Given the description of an element on the screen output the (x, y) to click on. 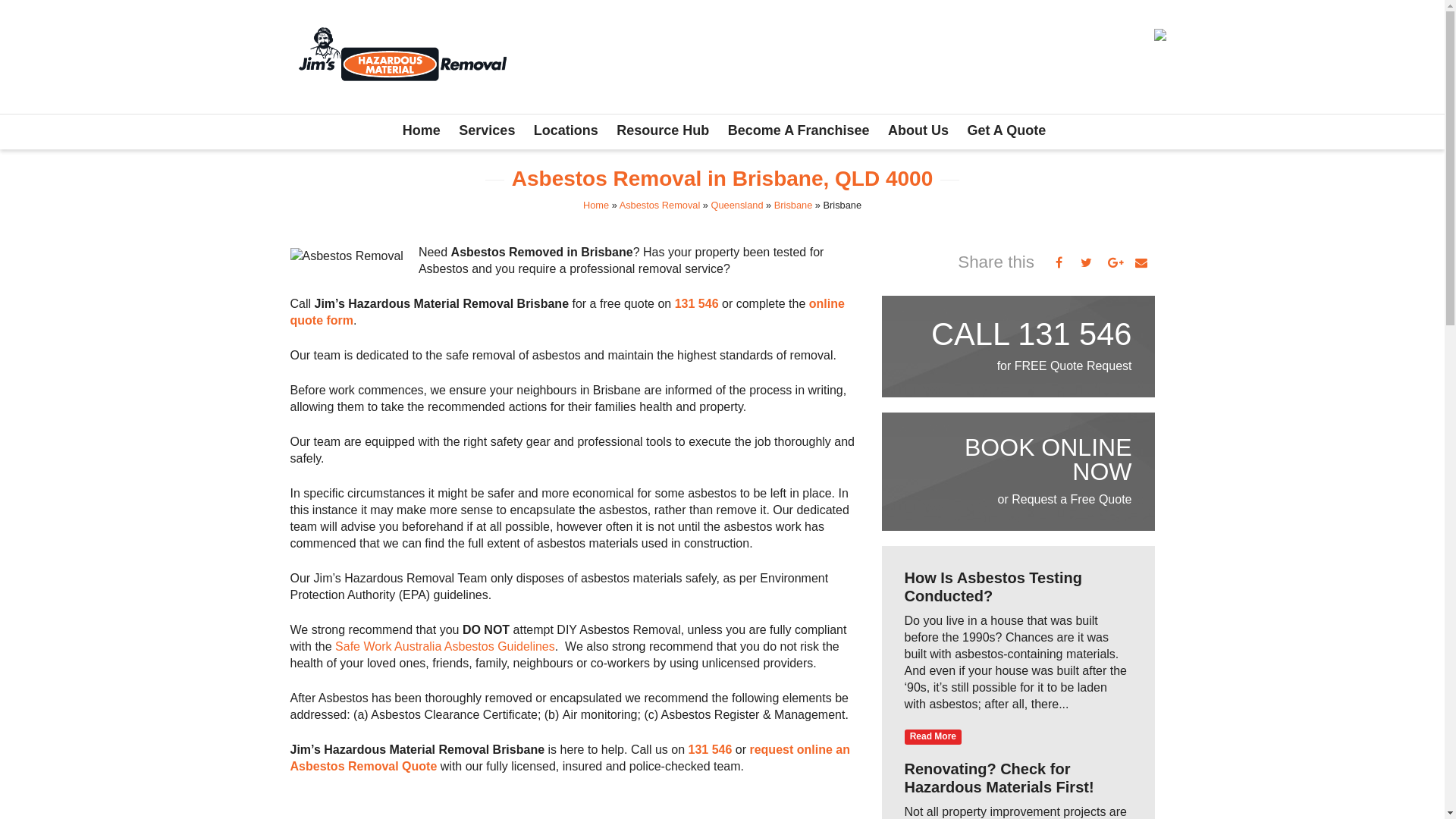
online quote form Element type: text (566, 311)
BOOK ONLINE NOW
or Request a Free Quote Element type: text (1017, 471)
Get A Quote Element type: text (1005, 130)
Home Element type: text (421, 130)
Share this on Facebook Element type: hover (1058, 262)
Locations Element type: text (565, 130)
Tweet this! Element type: hover (1085, 262)
Read More Element type: text (932, 736)
Brisbane Element type: text (793, 204)
Queensland Element type: text (737, 204)
request online an Asbestos Removal Quote Element type: text (569, 757)
Safe Work Australia Asbestos Guidelines Element type: text (445, 646)
Home Element type: text (595, 204)
Asbestos Removal Element type: text (659, 204)
Email this Element type: hover (1140, 262)
Services Element type: text (486, 130)
Become A Franchisee Element type: text (798, 130)
CALL 131 546
for FREE Quote Request Element type: text (1028, 346)
131 546 Element type: text (709, 749)
131 546 Element type: text (696, 303)
About Us Element type: text (918, 130)
How Is Asbestos Testing Conducted? Element type: text (992, 586)
Share this on Google Plus Element type: hover (1112, 262)
Resource Hub Element type: text (662, 130)
Renovating? Check for Hazardous Materials First! Element type: text (998, 777)
